Given the description of an element on the screen output the (x, y) to click on. 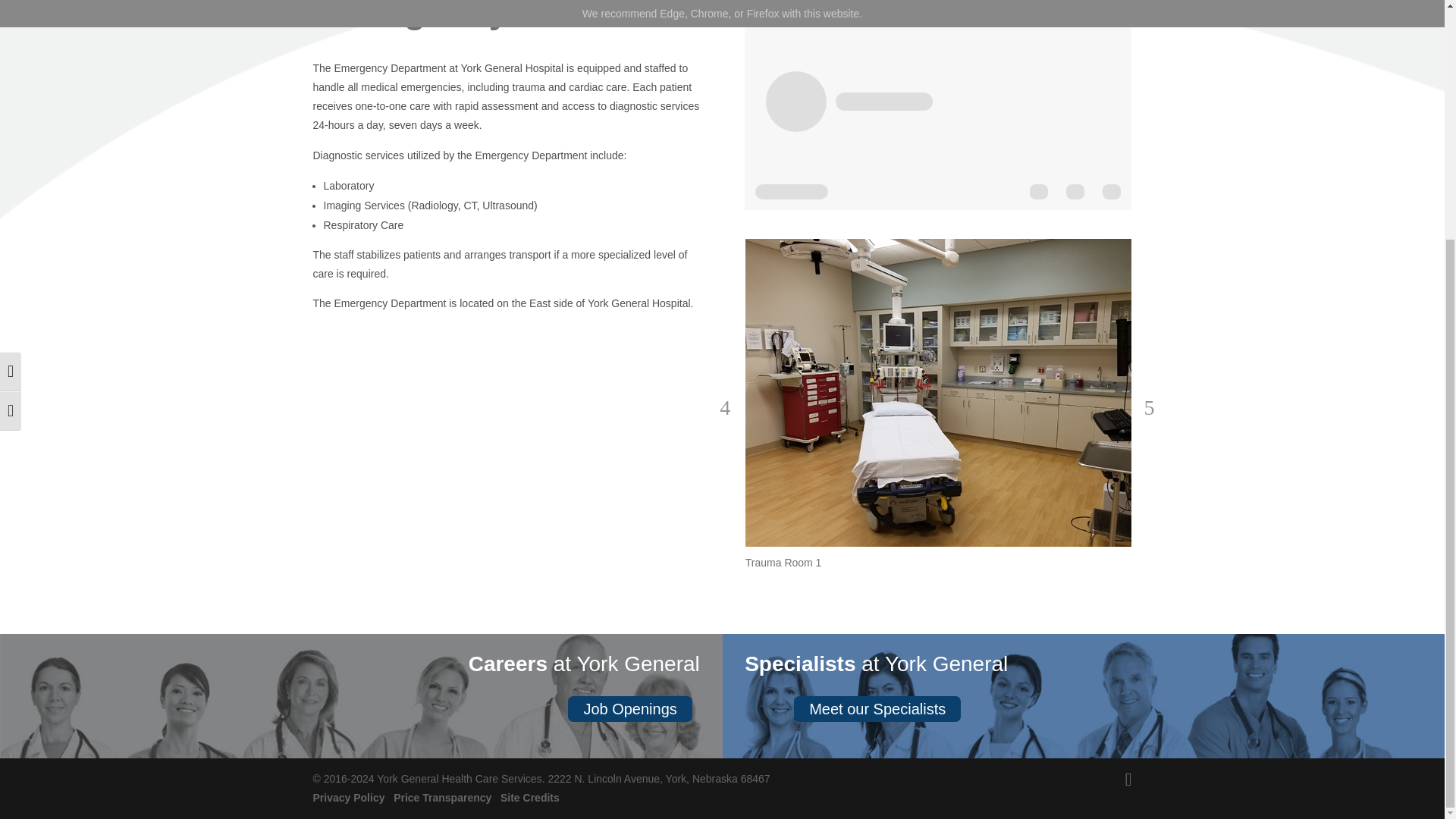
ViewMedica Video Player (937, 104)
